Given the description of an element on the screen output the (x, y) to click on. 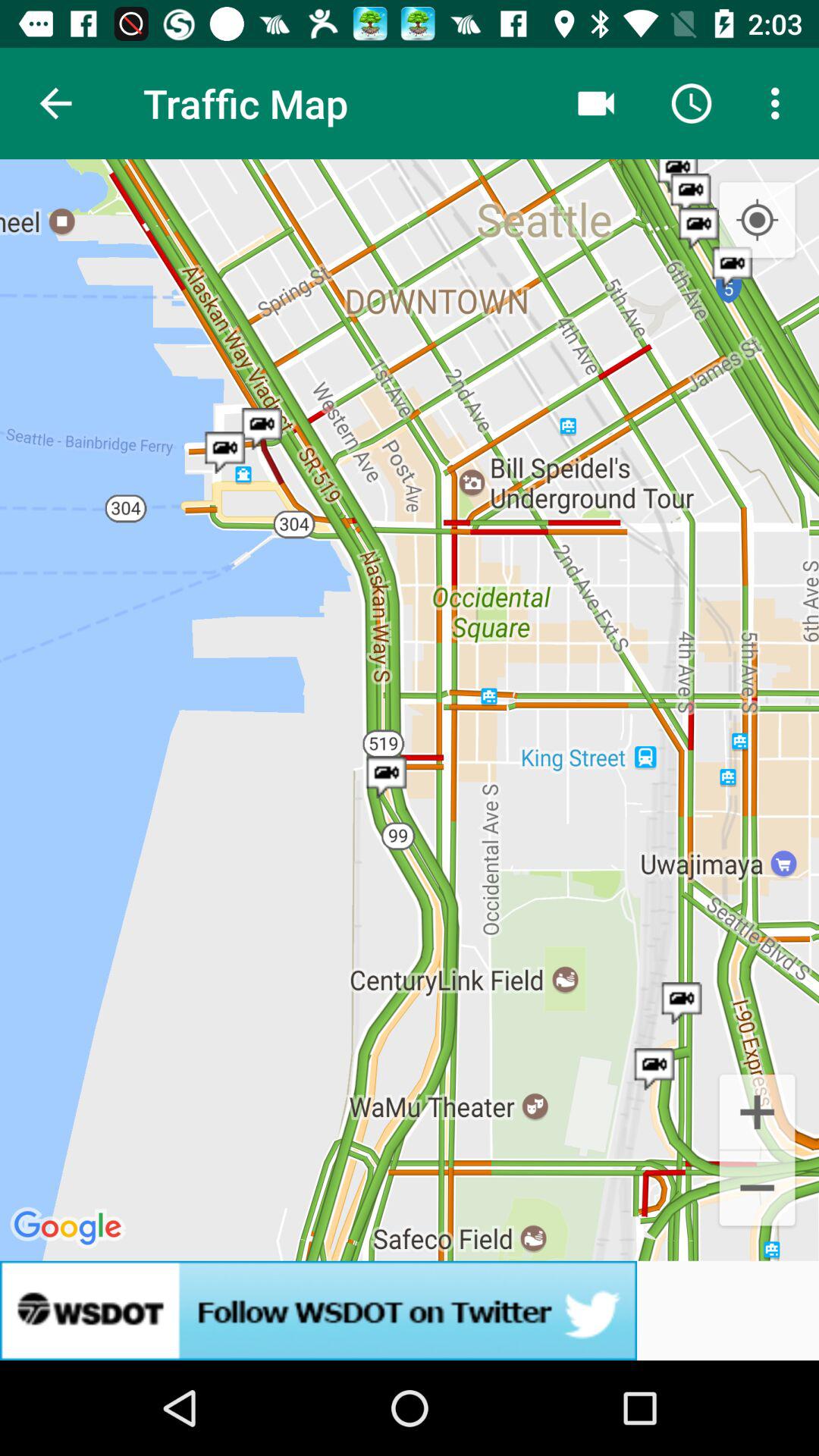
web add (409, 1310)
